Given the description of an element on the screen output the (x, y) to click on. 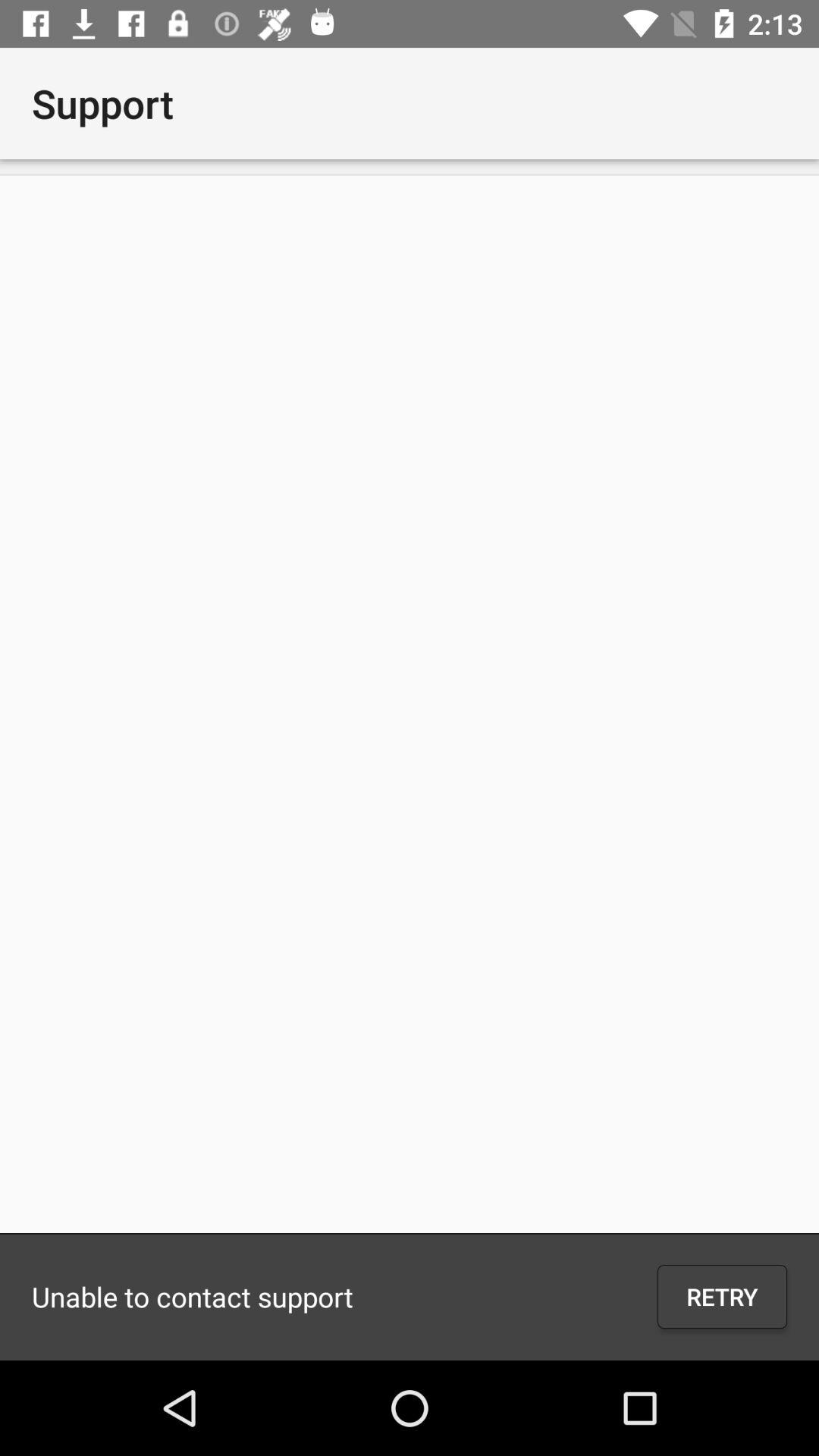
click the icon to the right of the unable to contact icon (722, 1296)
